Given the description of an element on the screen output the (x, y) to click on. 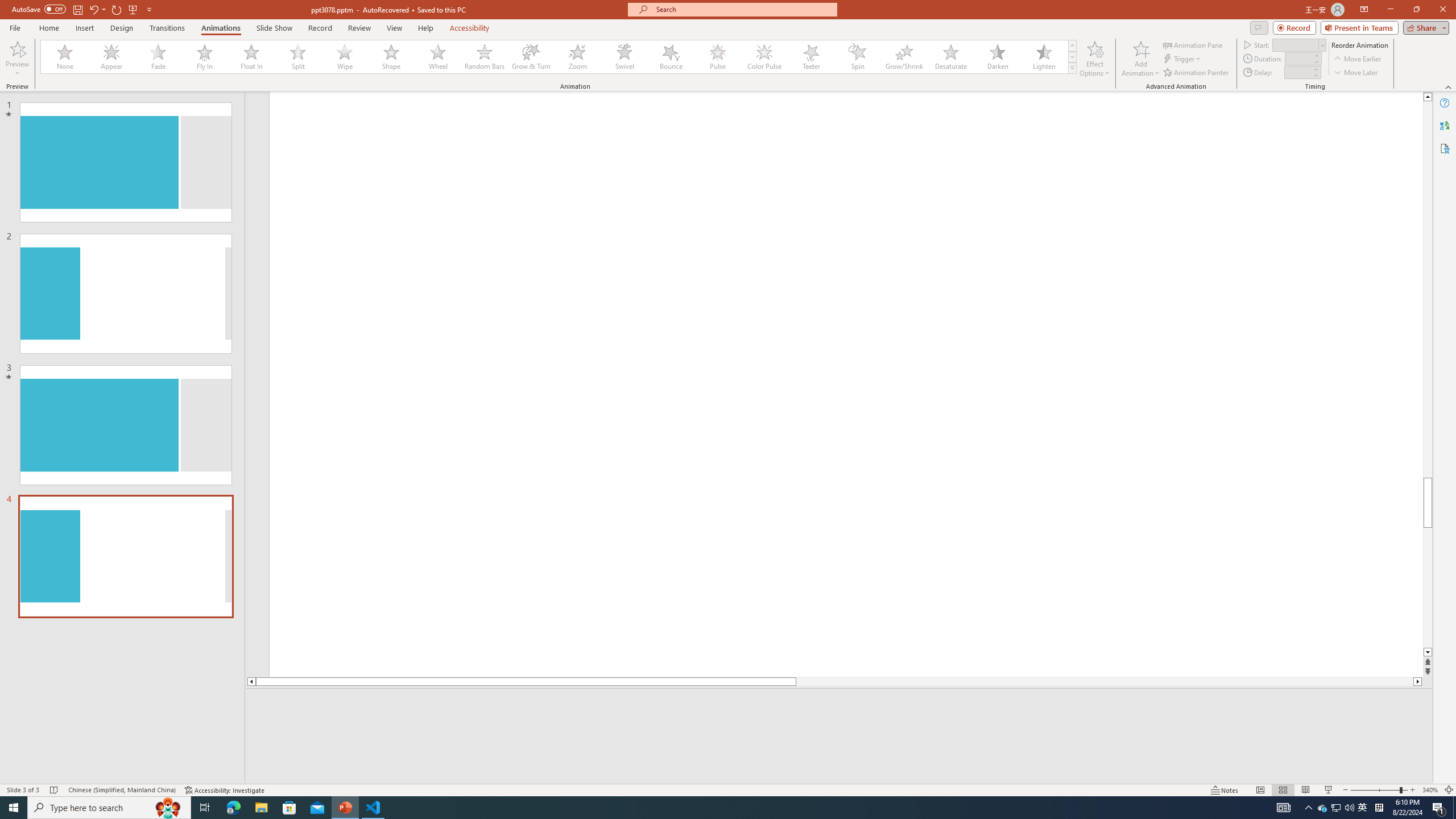
Shape (391, 56)
Pulse (717, 56)
Move Later (1355, 72)
Fly In (205, 56)
Appear (111, 56)
Fade (158, 56)
Trigger (1182, 58)
Random Bars (484, 56)
Color Pulse (764, 56)
